Given the description of an element on the screen output the (x, y) to click on. 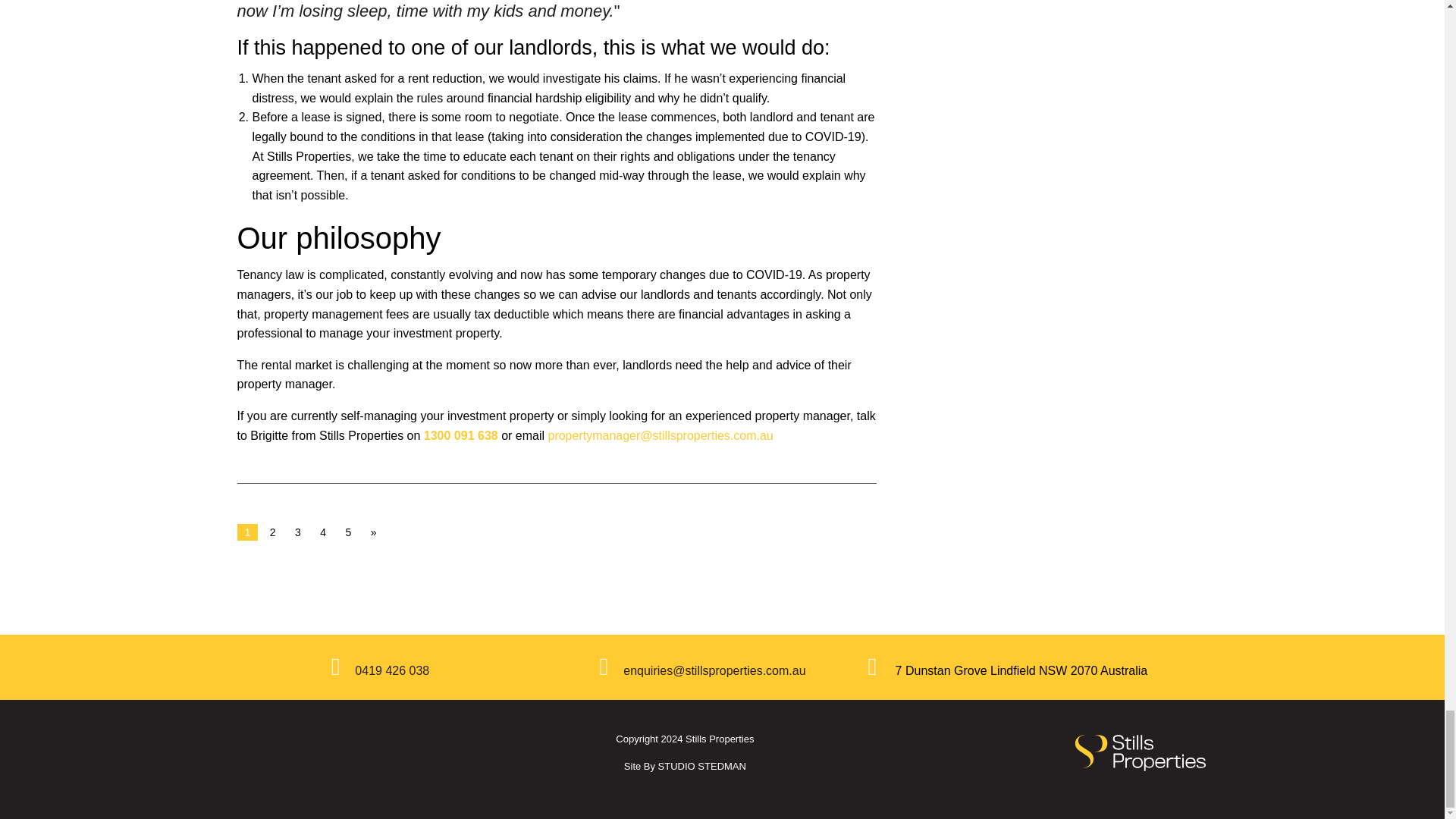
1300 091 638 (460, 435)
3 (297, 531)
5 (348, 531)
2 (272, 531)
0419 426 038 (392, 670)
4 (323, 531)
